Given the description of an element on the screen output the (x, y) to click on. 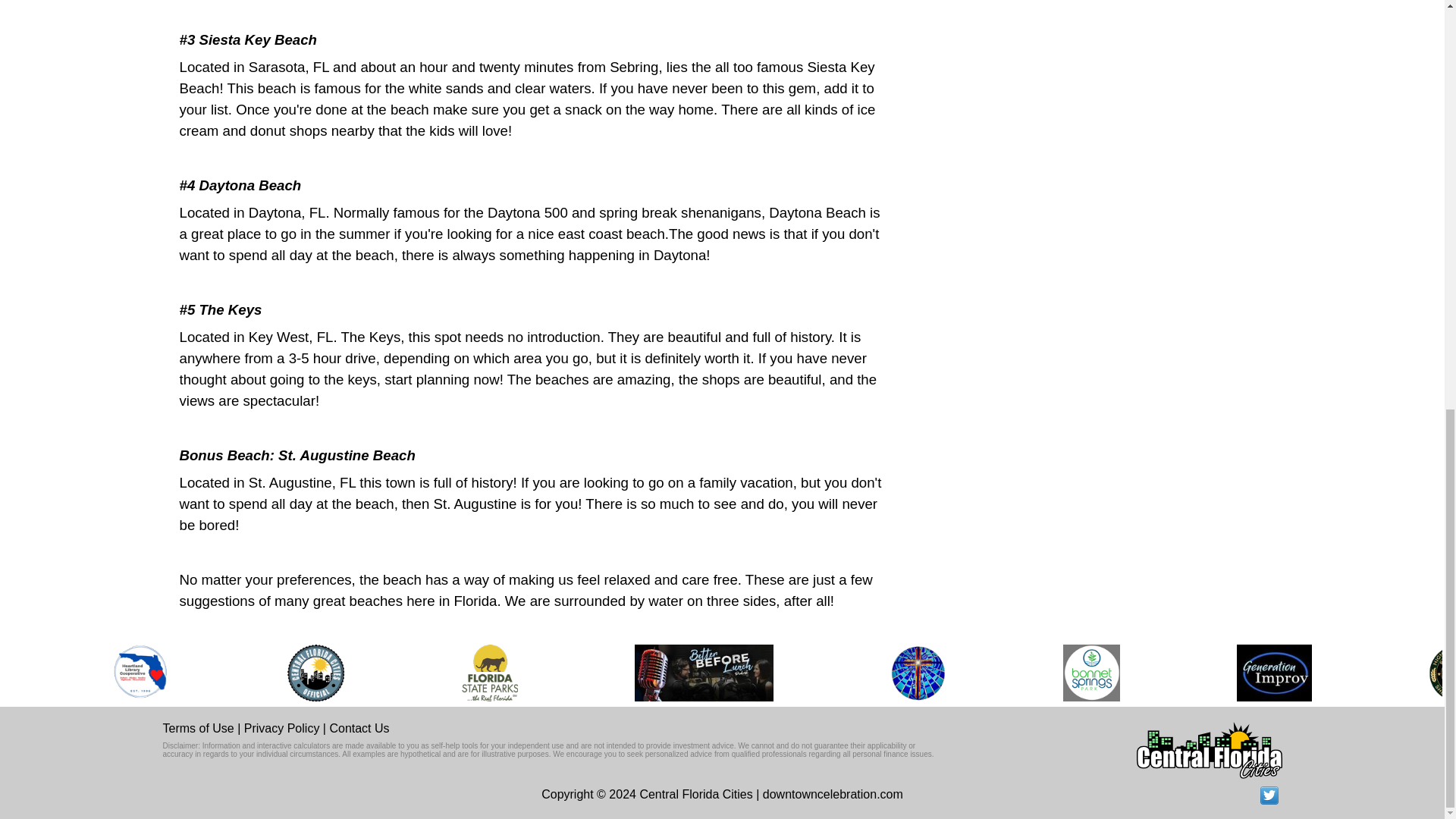
Bonnet Springs Park - Bonnett-Springs-Lakeland-logo.png (1090, 672)
Florida State Parks - FL-DEP-STATE-PARKS-TAG.png (489, 672)
Better Before Lunch - Betterbeforelunchpodcast41.jpg (703, 672)
Generation Improv - generation-Improv logo.jpg (1273, 672)
